Given the description of an element on the screen output the (x, y) to click on. 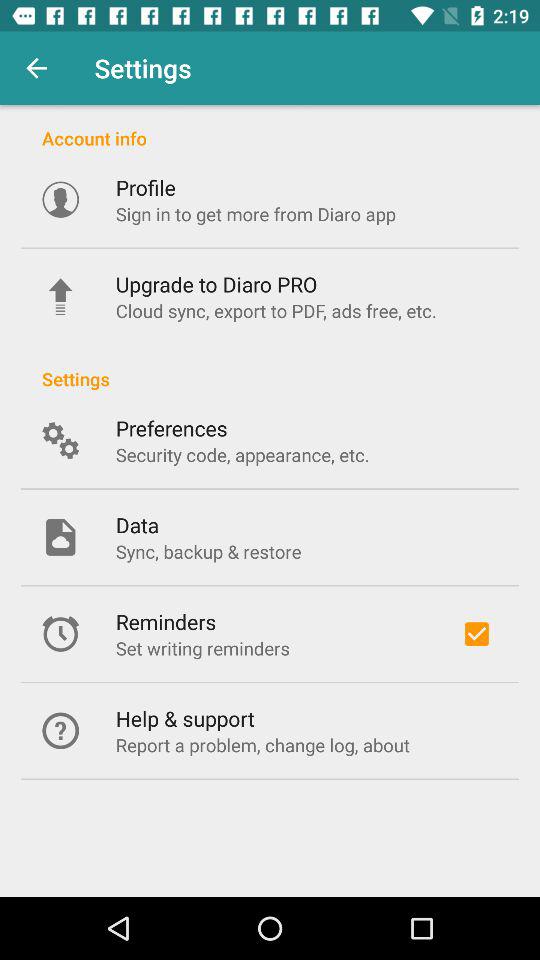
choose the item next to set writing reminders icon (476, 634)
